Given the description of an element on the screen output the (x, y) to click on. 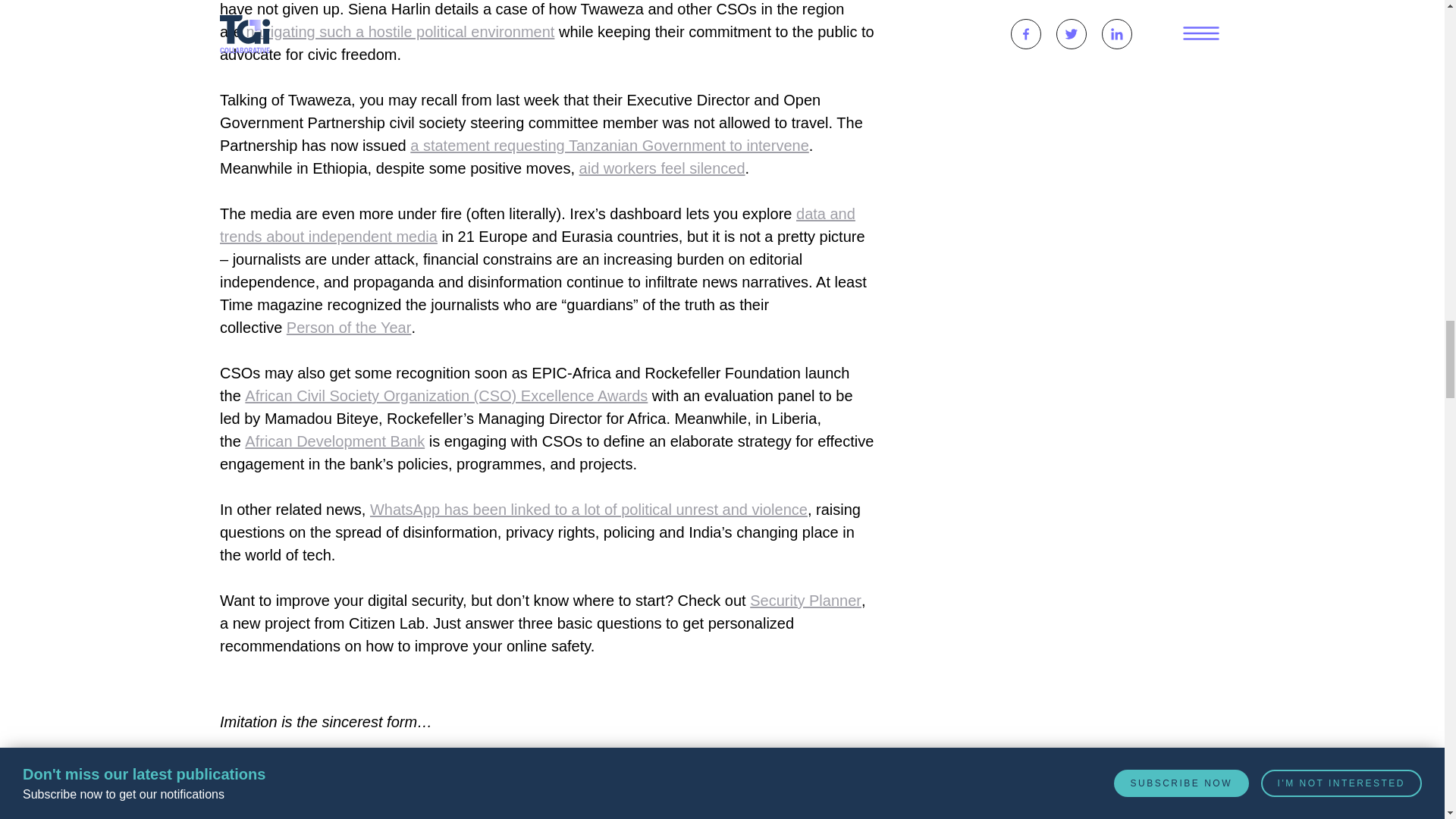
data and trends about independent media (537, 224)
a statement requesting Tanzanian Government to intervene (609, 145)
navigating such a hostile political environment (400, 31)
aid workers feel silenced (662, 167)
